Given the description of an element on the screen output the (x, y) to click on. 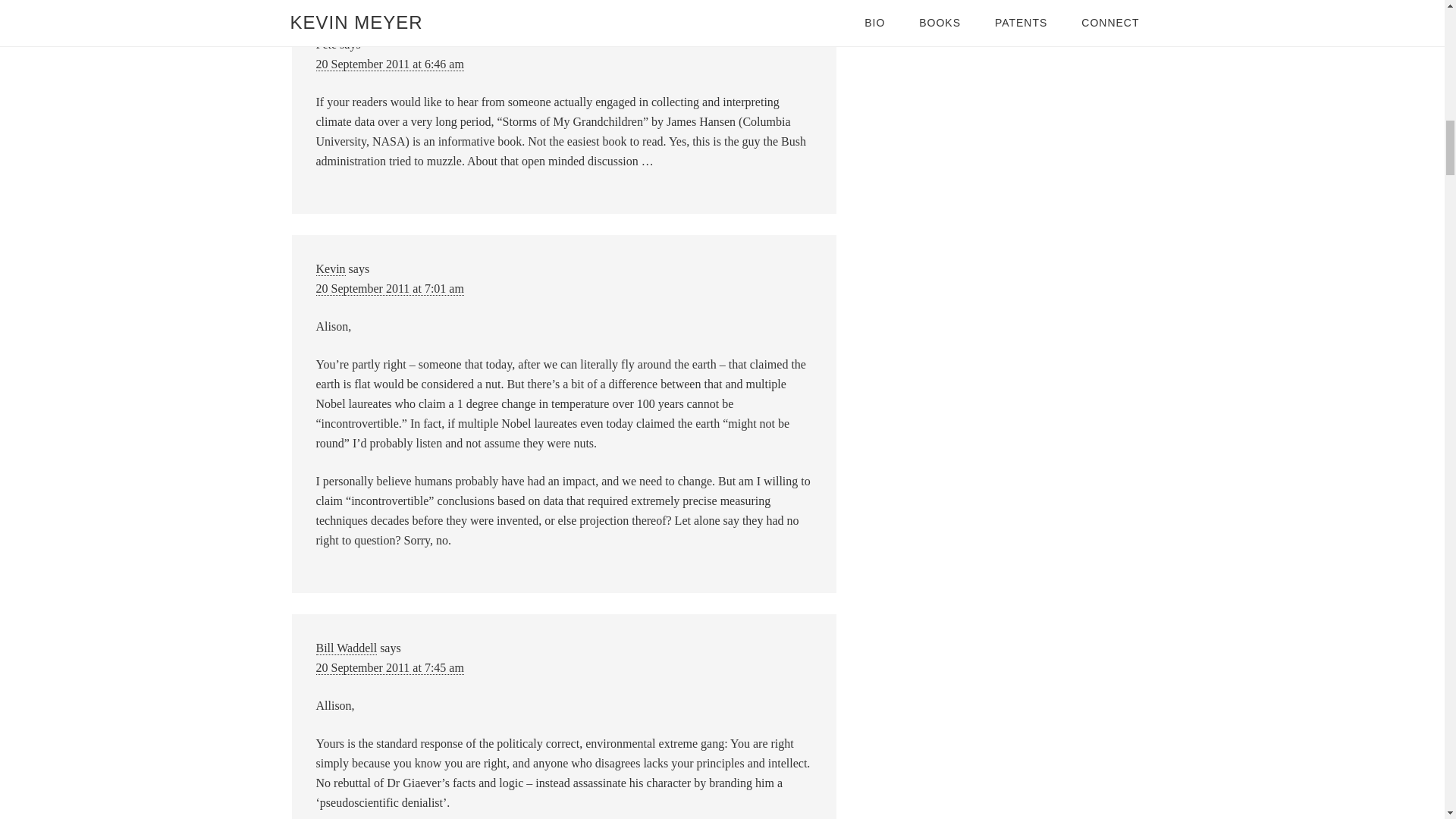
20 September 2011 at 7:45 am (389, 667)
Kevin (330, 269)
20 September 2011 at 6:46 am (389, 64)
20 September 2011 at 7:01 am (389, 288)
Bill Waddell (346, 648)
